Given the description of an element on the screen output the (x, y) to click on. 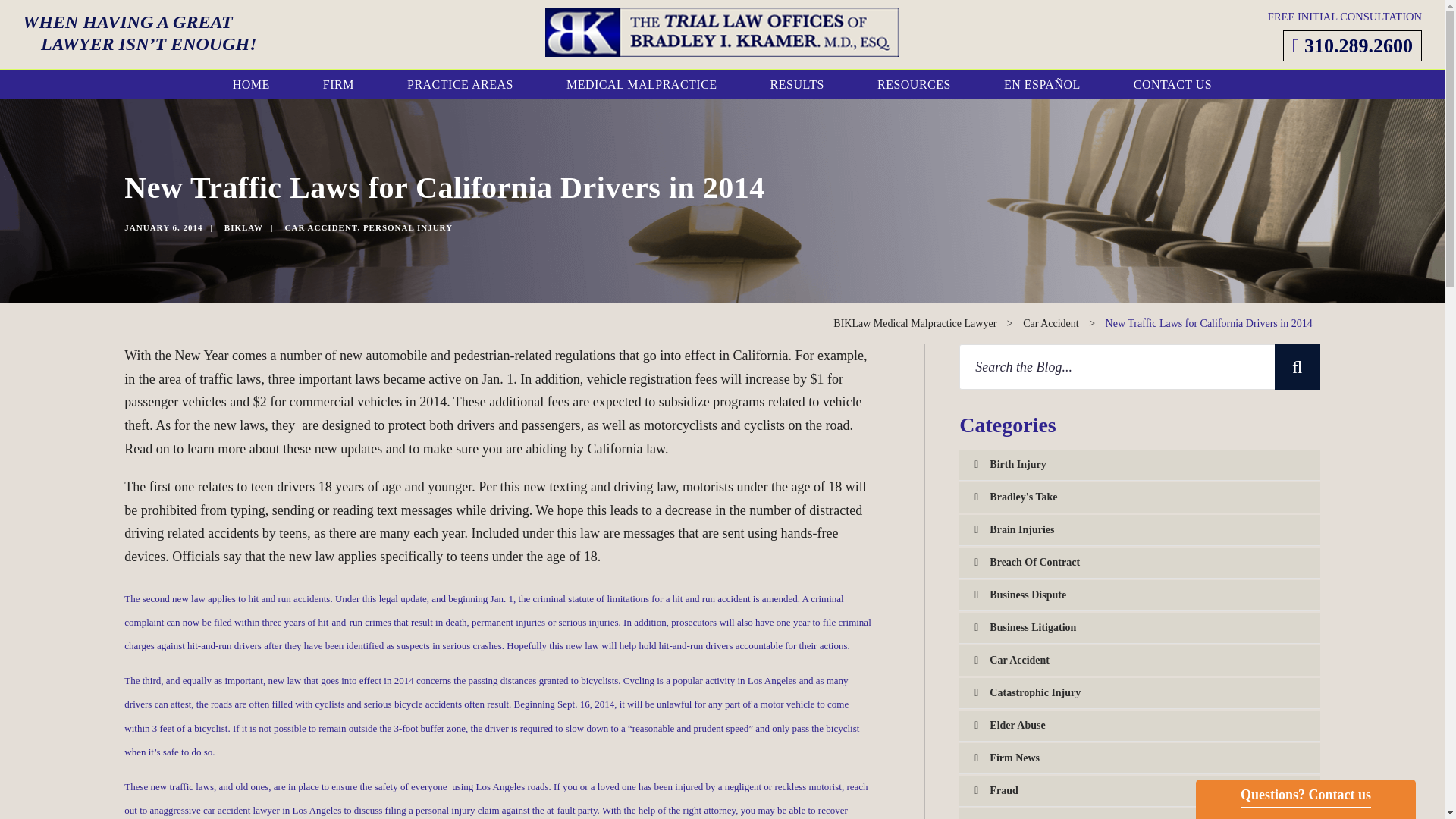
Posts by BIKLAW (243, 226)
Go to BIKLaw Medical Malpractice Lawyer. (913, 323)
Go to the Car Accident Category archives. (1050, 323)
